Given the description of an element on the screen output the (x, y) to click on. 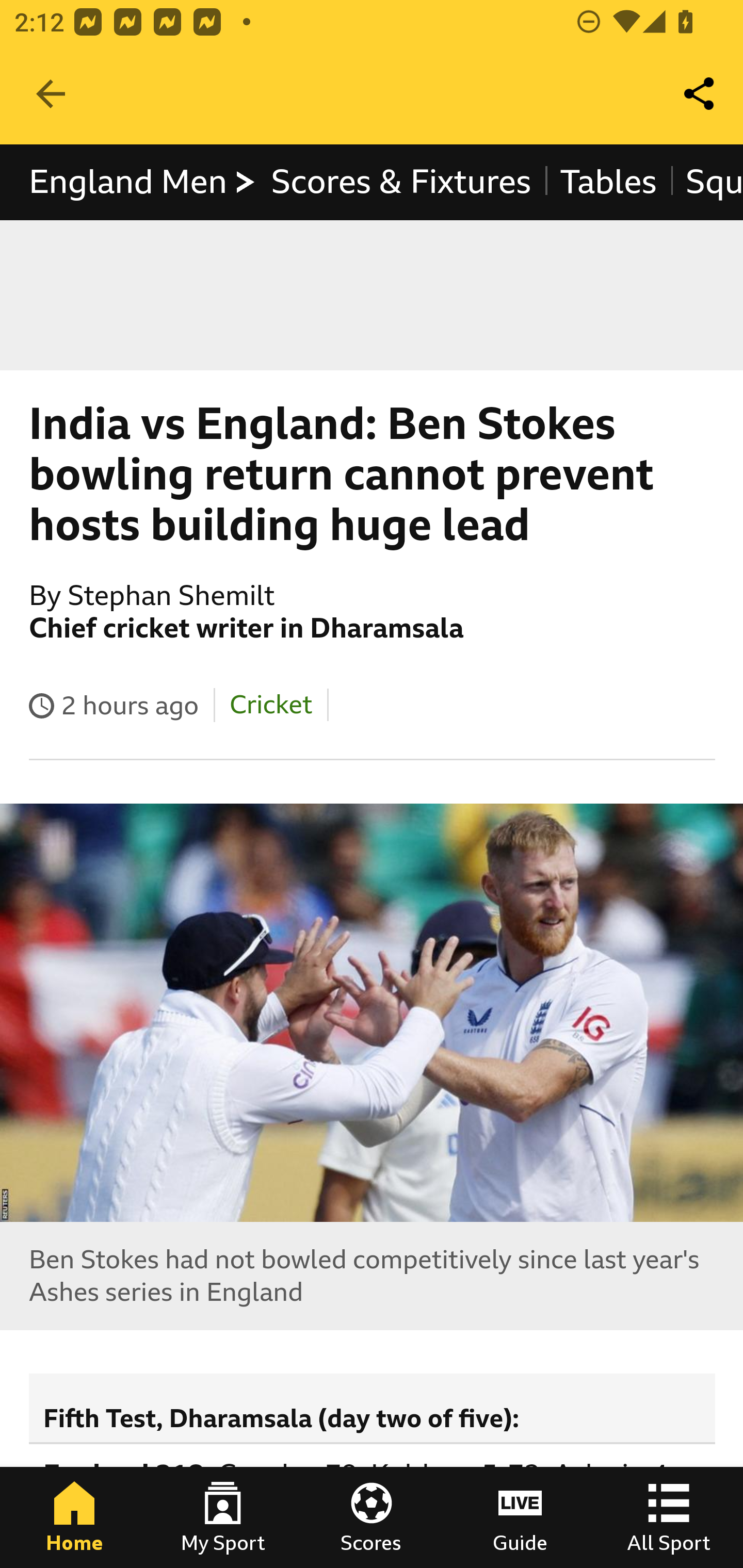
Navigate up (50, 93)
Share (699, 93)
England Men  (142, 181)
Scores & Fixtures (401, 181)
Tables (608, 181)
Cricket (270, 704)
My Sport (222, 1517)
Scores (371, 1517)
Guide (519, 1517)
All Sport (668, 1517)
